Given the description of an element on the screen output the (x, y) to click on. 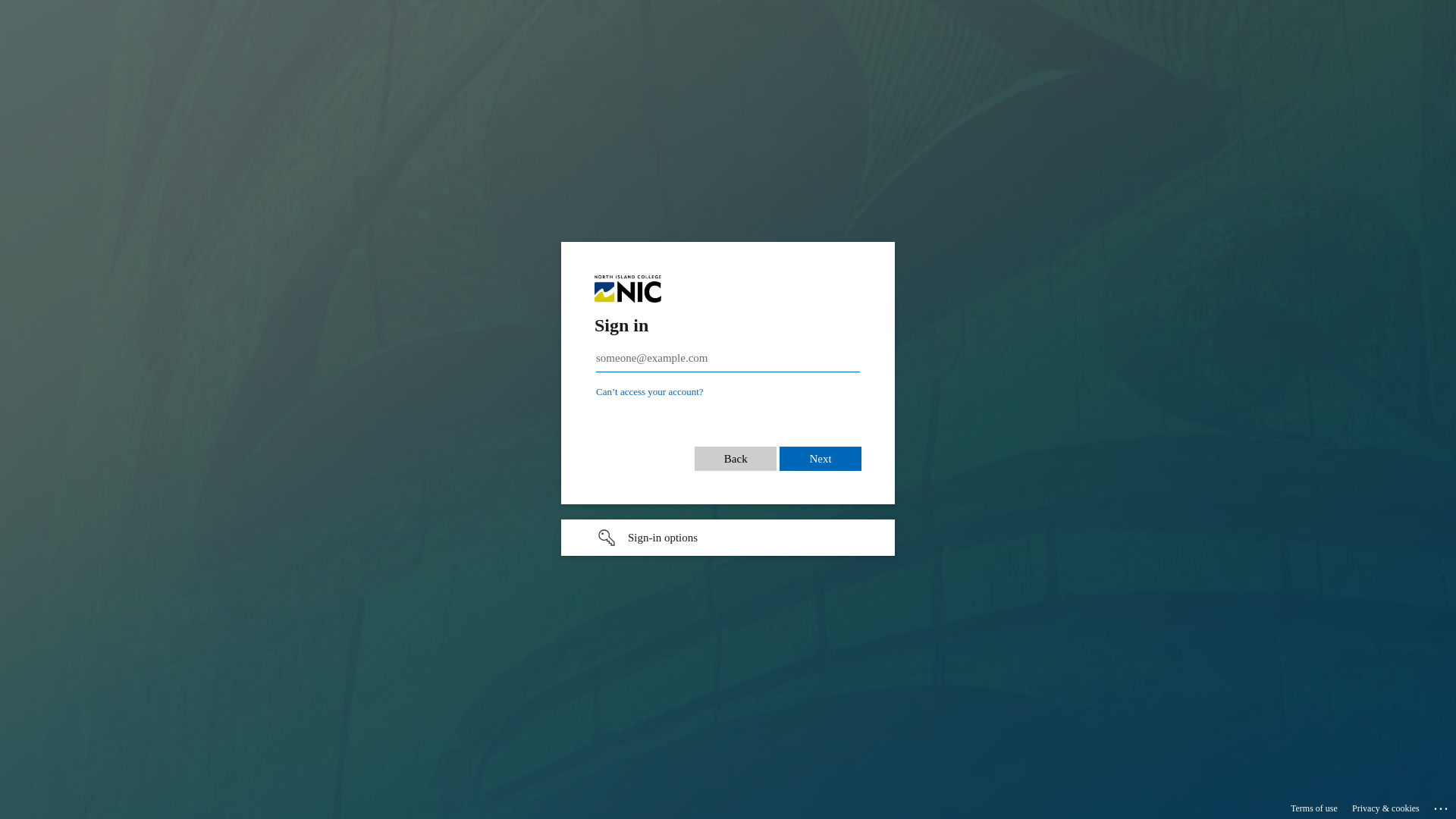
Next Element type: text (820, 449)
... Element type: text (1441, 805)
